Given the description of an element on the screen output the (x, y) to click on. 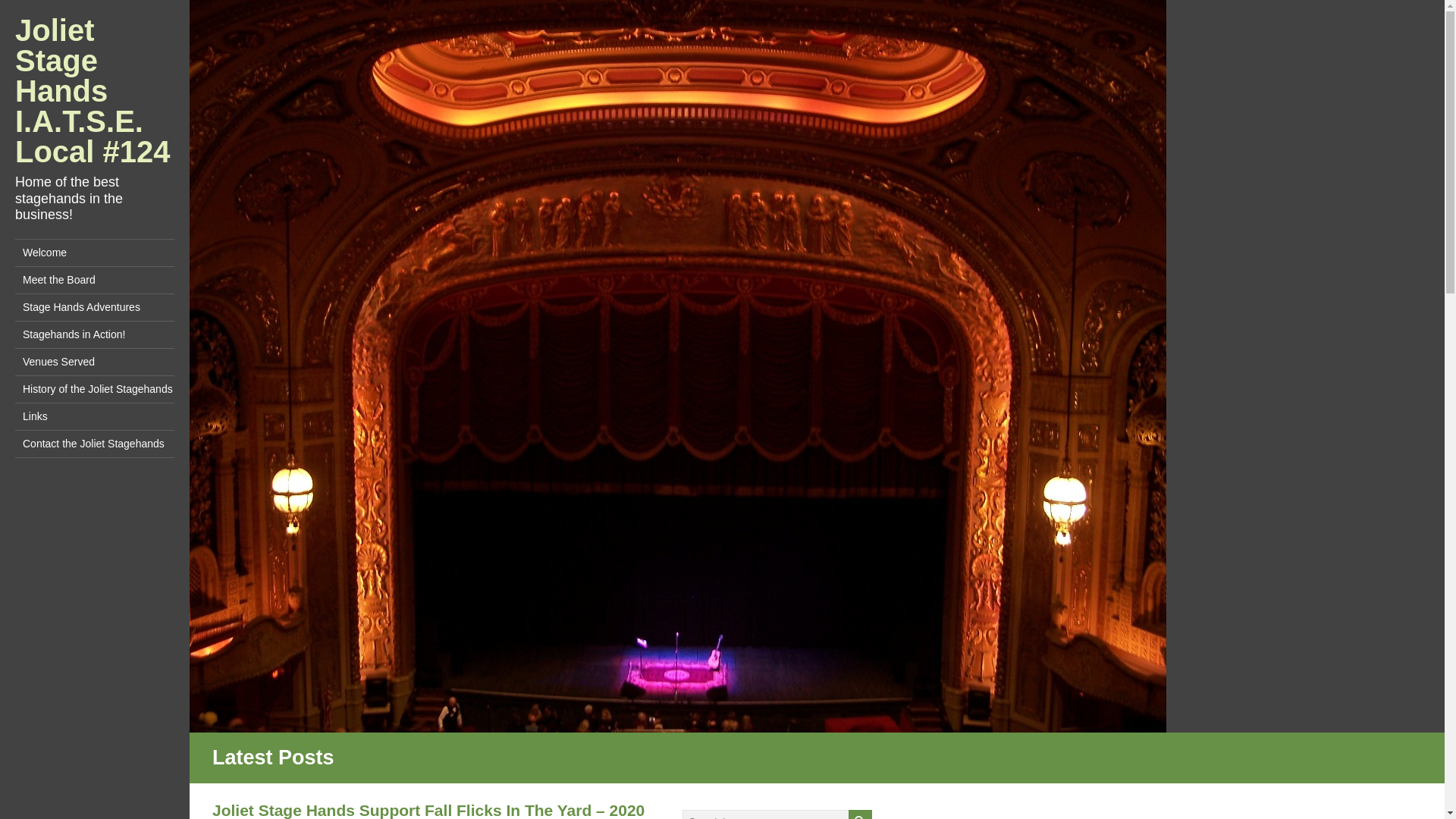
History of the Joliet Stagehands (94, 388)
Venues Served (94, 361)
Stagehands in Action! (94, 334)
Meet the Board (94, 279)
Welcome (94, 252)
Links (94, 416)
Stage Hands Adventures (94, 307)
Contact the Joliet Stagehands (94, 443)
